Given the description of an element on the screen output the (x, y) to click on. 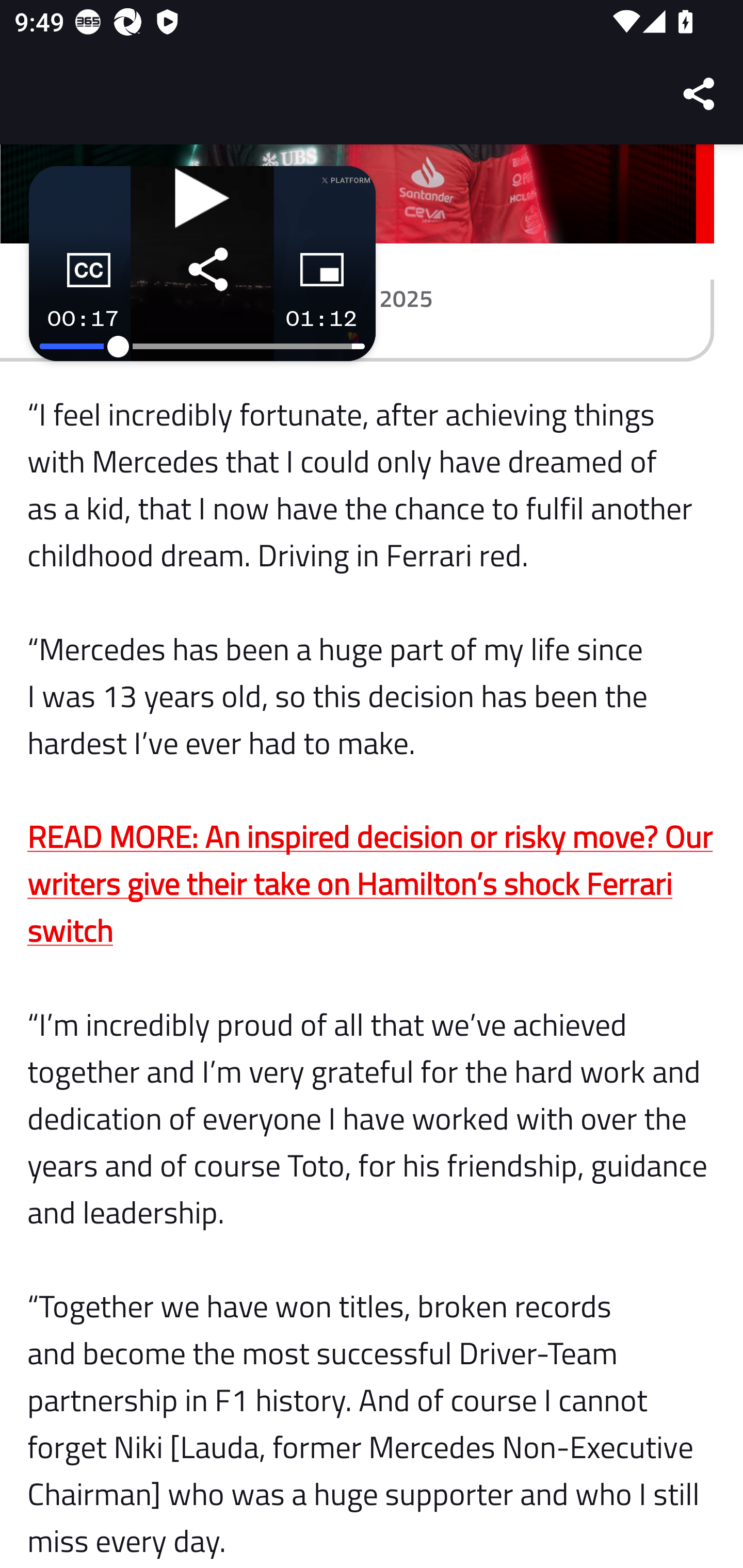
Share (699, 93)
